Given the description of an element on the screen output the (x, y) to click on. 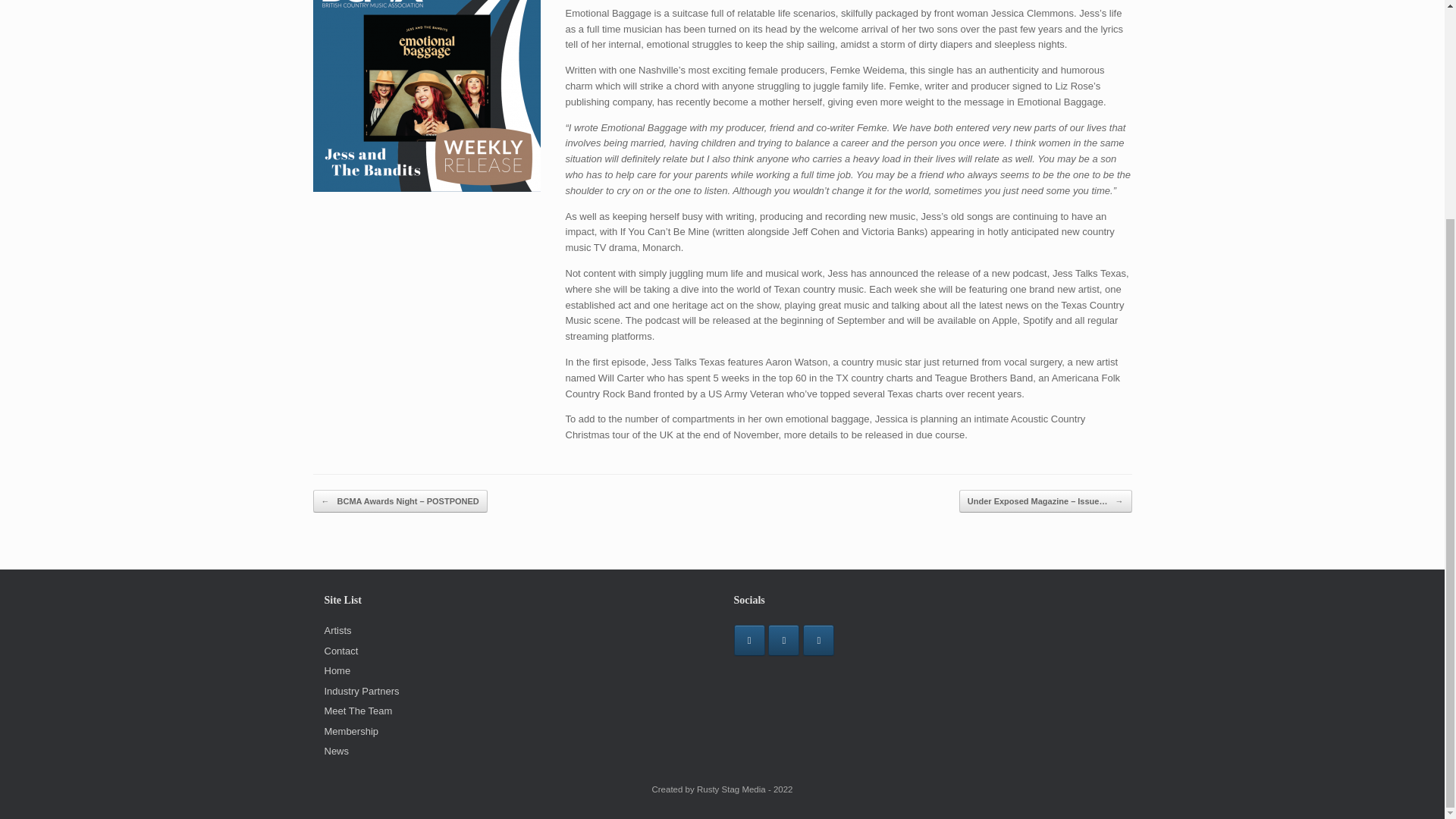
Contact (341, 650)
Artists (338, 630)
Meet The Team (358, 710)
Industry Partners (361, 690)
BCMA on Instagram (783, 640)
Home (337, 670)
BCMA on X Twitter (818, 640)
Membership (351, 731)
News (336, 750)
BCMA on Facebook (749, 640)
